Given the description of an element on the screen output the (x, y) to click on. 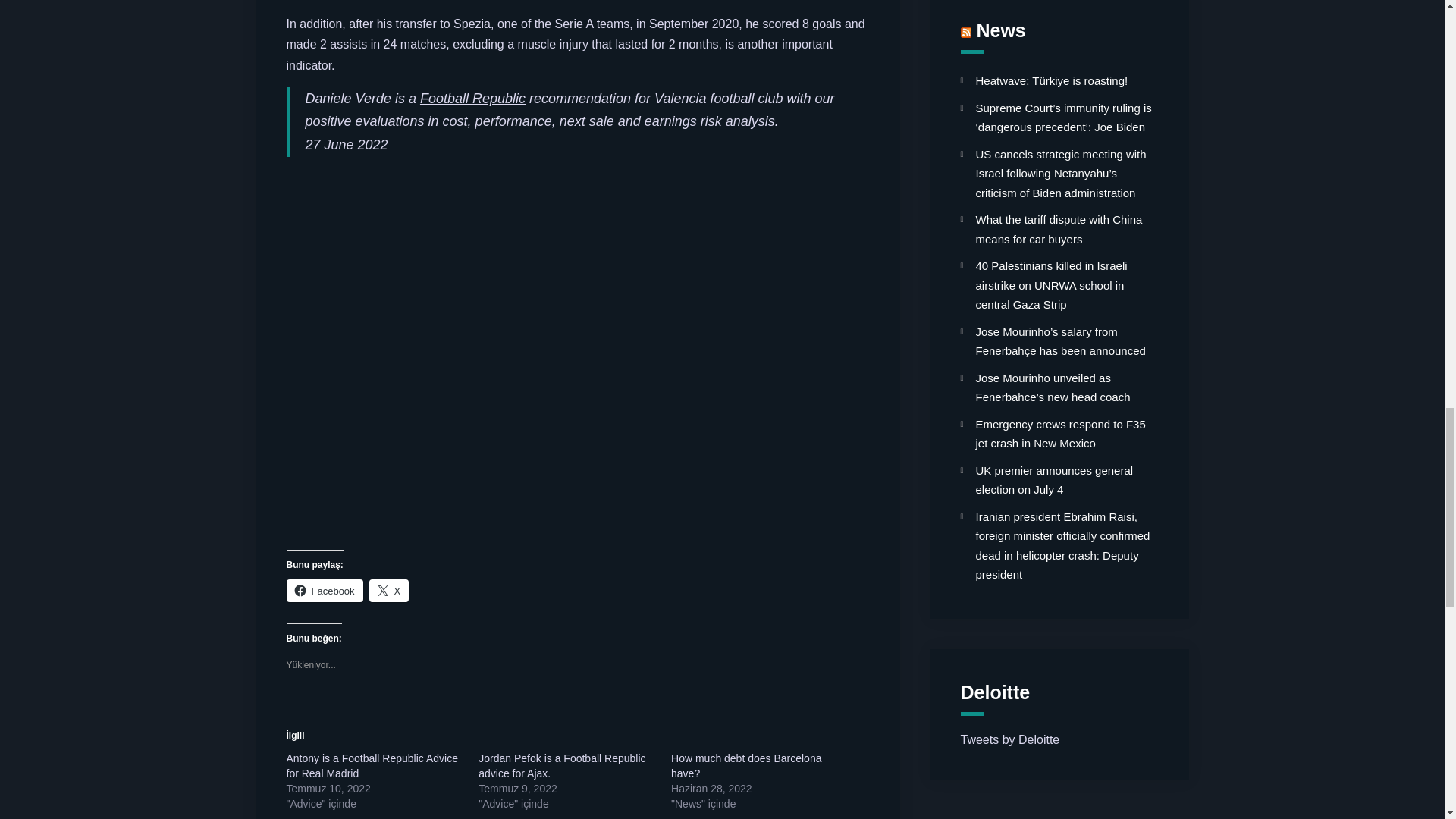
Antony is a Football Republic Advice for Real Madrid (372, 765)
Jordan Pefok is a Football Republic advice for Ajax. (562, 765)
How much debt does Barcelona have? (746, 765)
